Given the description of an element on the screen output the (x, y) to click on. 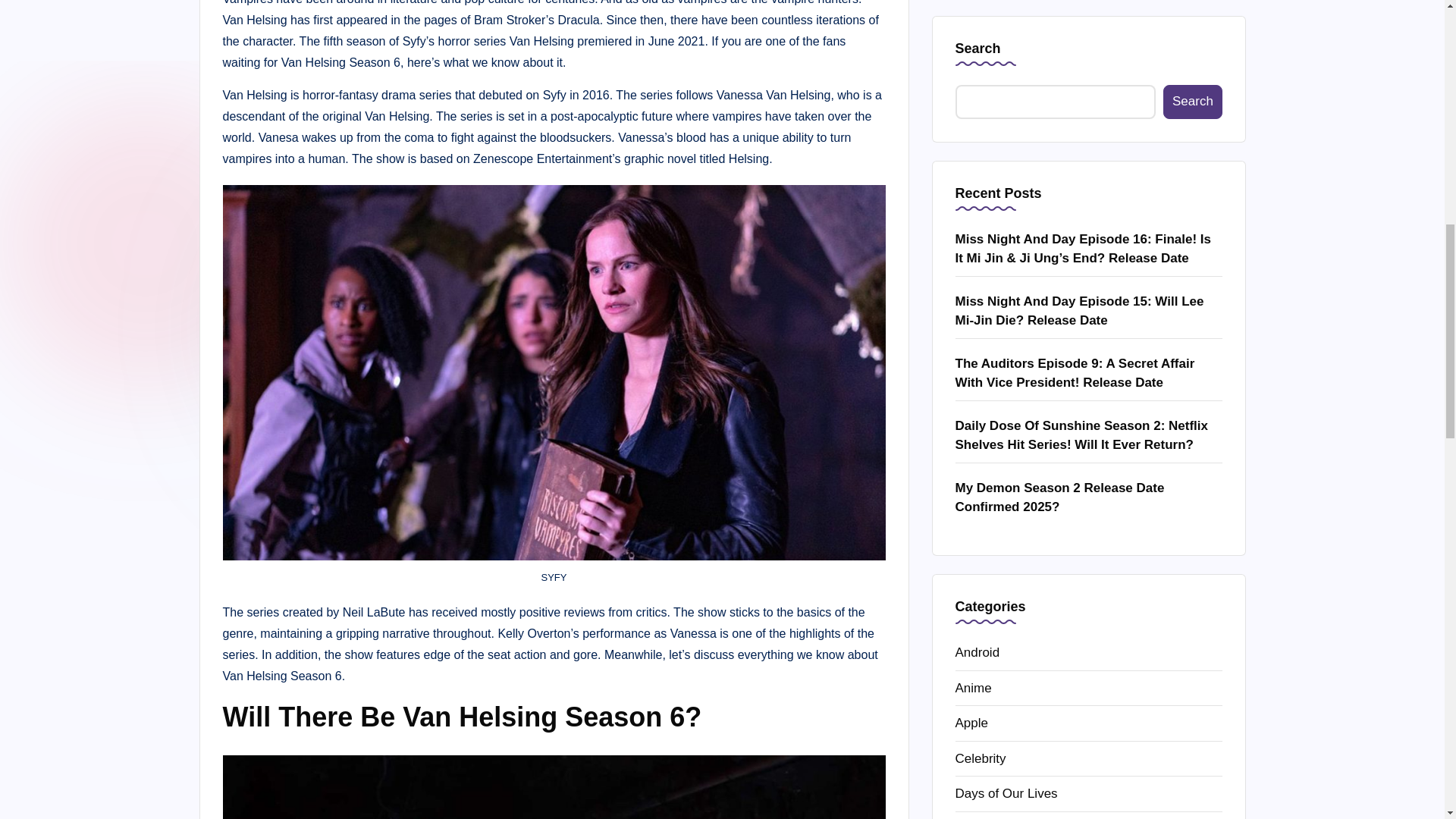
Android (1089, 7)
Apple (1089, 75)
Anime (1089, 40)
